Given the description of an element on the screen output the (x, y) to click on. 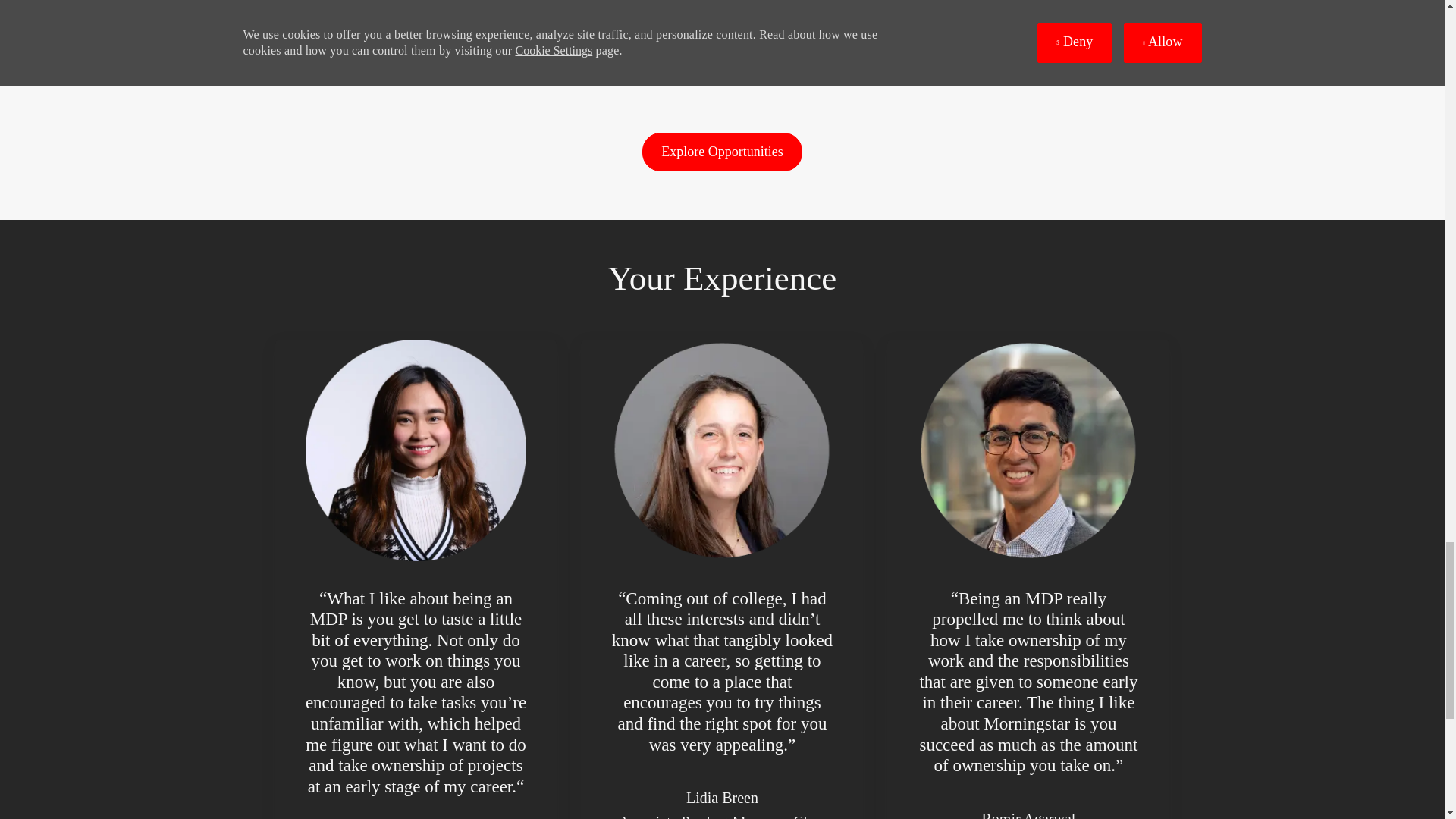
Explore Opportunities (722, 151)
